Given the description of an element on the screen output the (x, y) to click on. 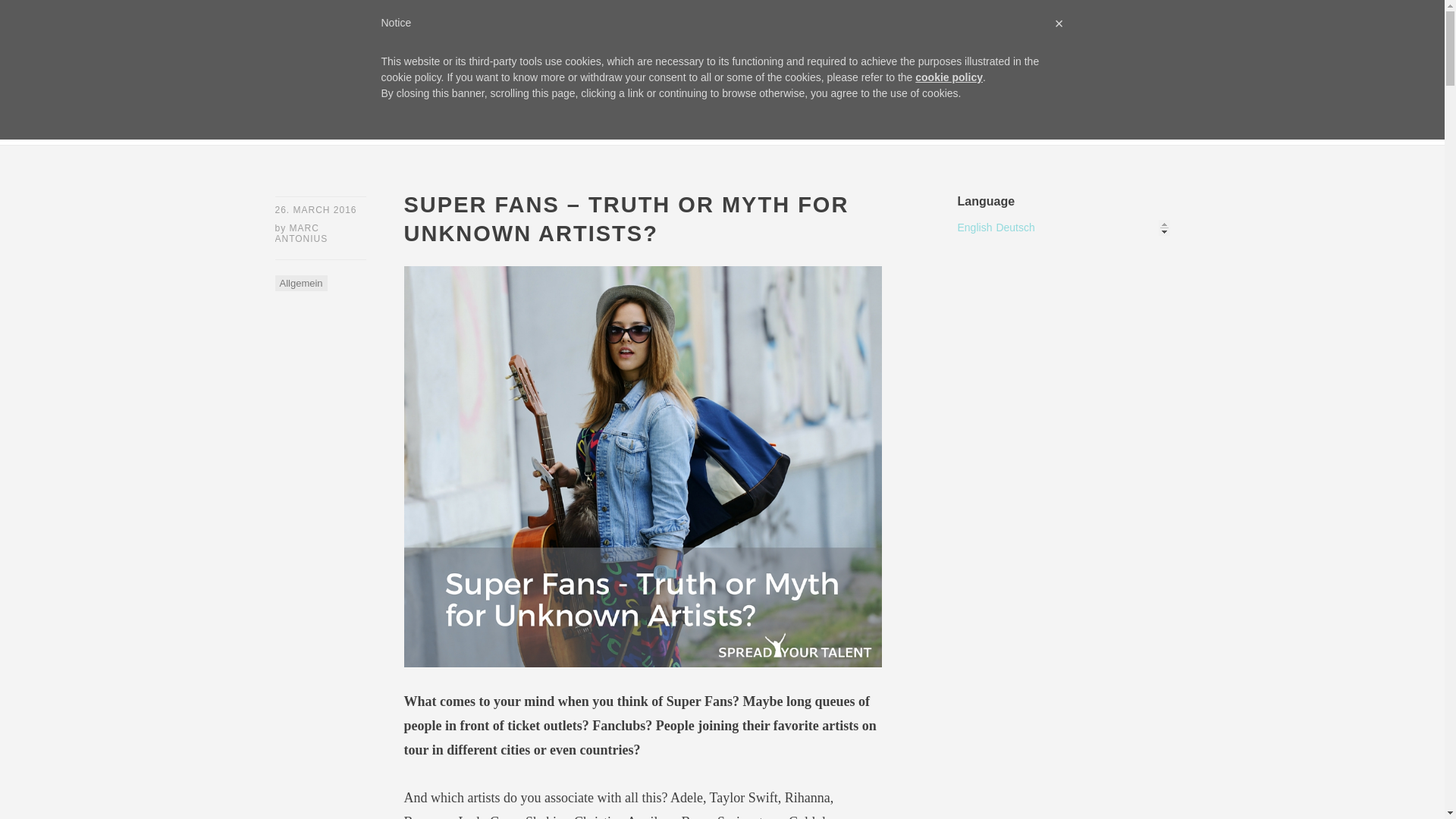
MARC ANTONIUS (301, 233)
English (973, 227)
Allgemein (300, 283)
WORK WITH US (455, 122)
CLIENTS FEEDBACK (590, 122)
All posts by Marc Antonius (301, 233)
EN (775, 122)
SPREAD YOUR TALENT (423, 50)
DE (821, 122)
Search (34, 15)
HOME (291, 122)
CONTACT (708, 122)
ABOUT (360, 122)
26. MARCH 2016 (315, 209)
